Given the description of an element on the screen output the (x, y) to click on. 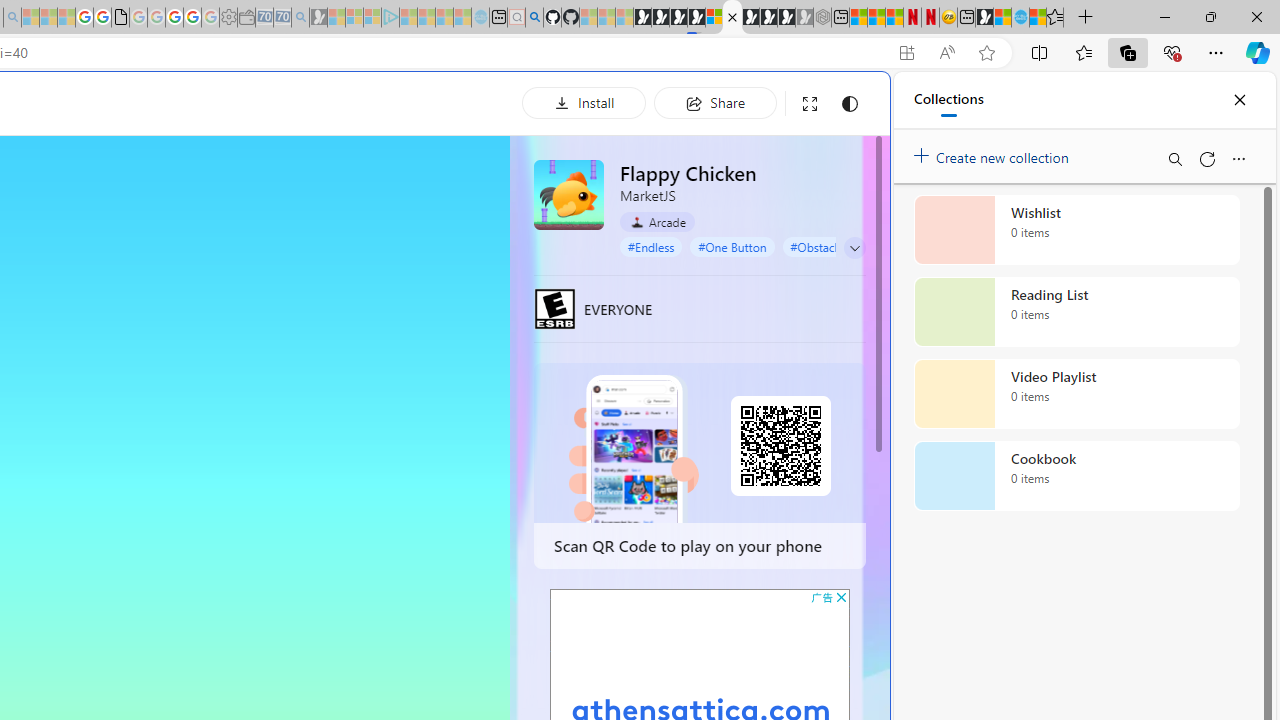
Arcade (657, 221)
Change to dark mode (849, 103)
